Given the description of an element on the screen output the (x, y) to click on. 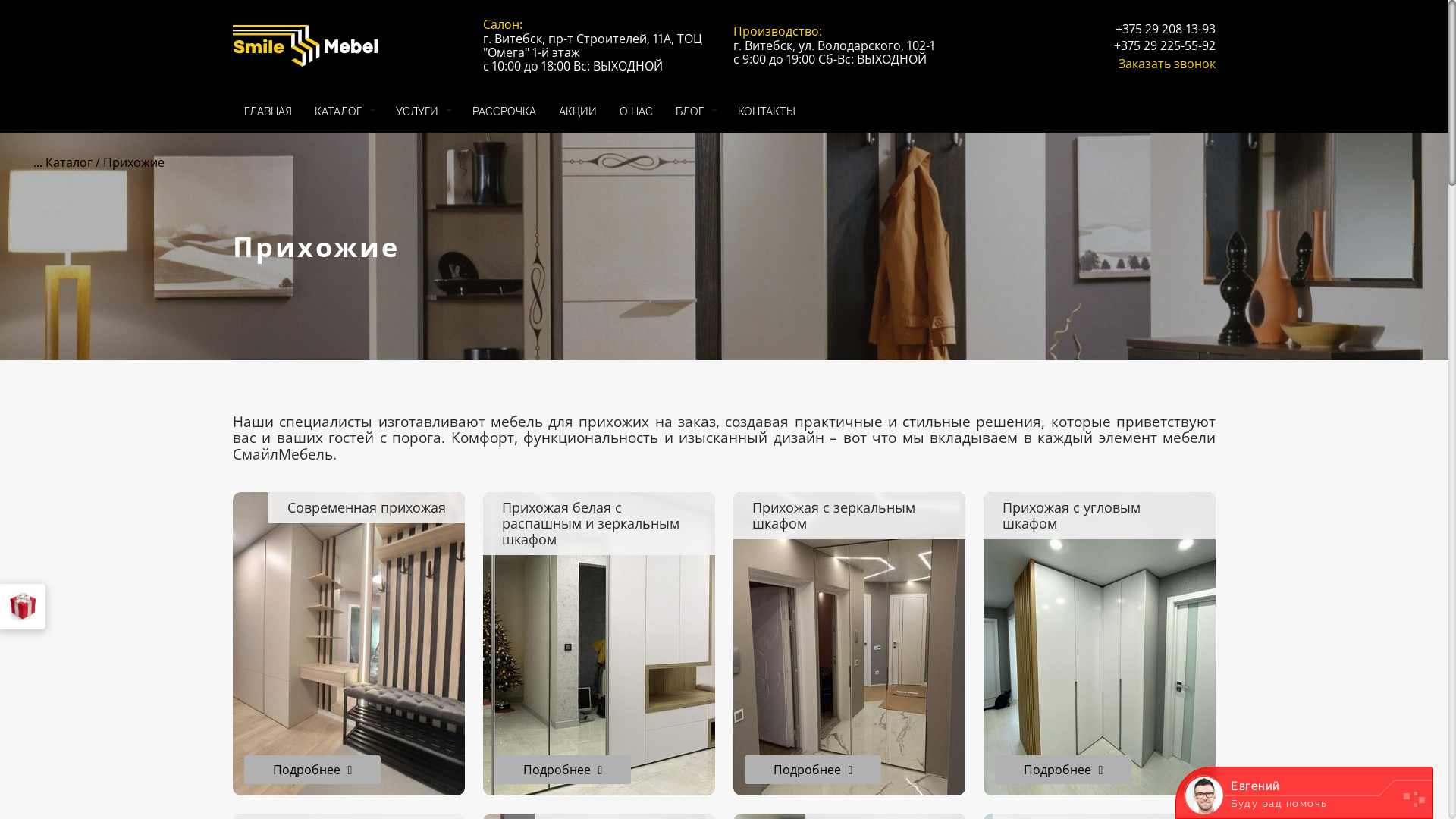
+375 29 208-13-93 Element type: text (1165, 28)
+375 29 225-55-92 Element type: text (1164, 45)
